Given the description of an element on the screen output the (x, y) to click on. 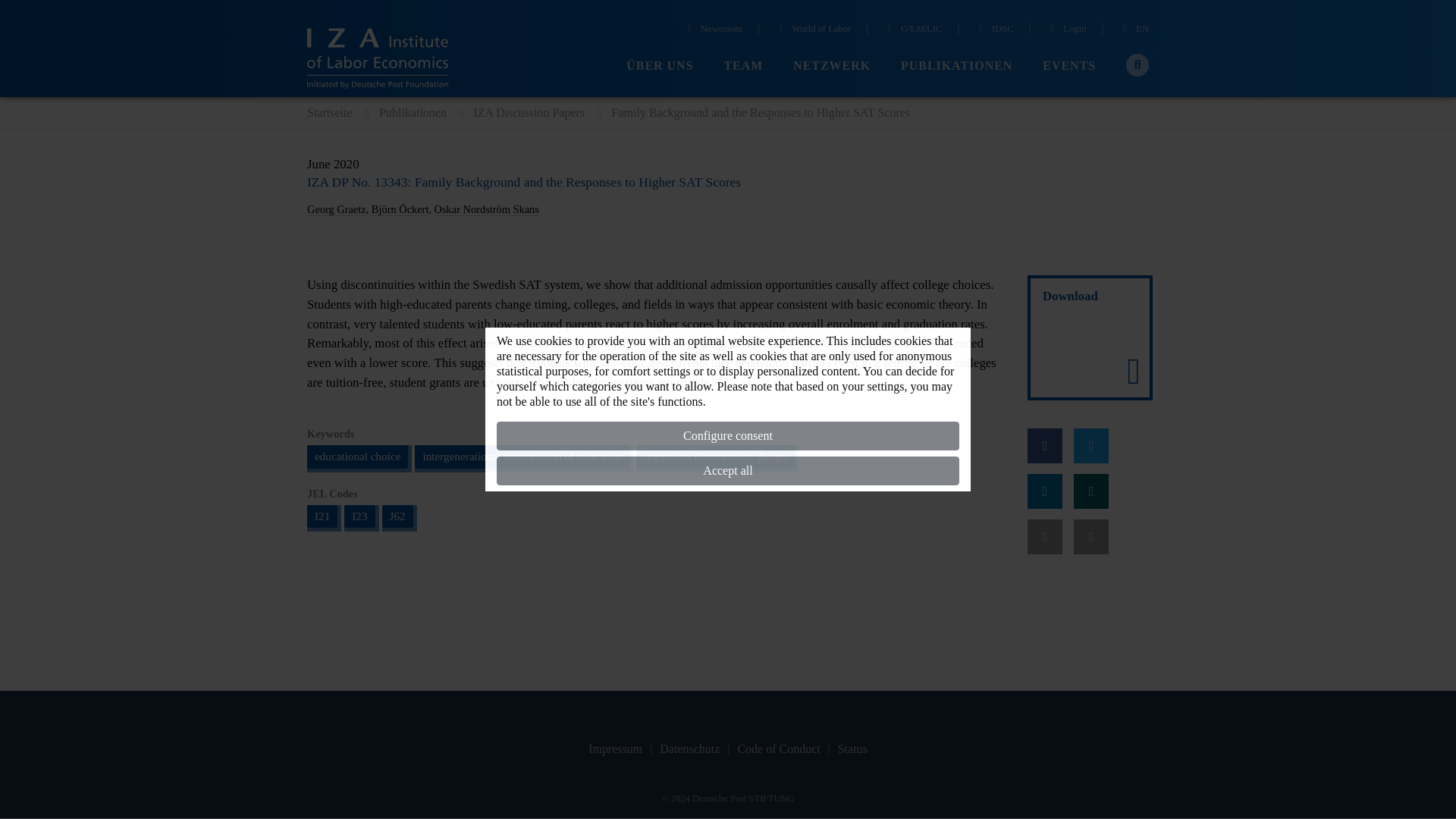
NETZWERK (831, 66)
World of Labor (812, 30)
TEAM (742, 66)
EN (1133, 30)
Newsroom (712, 30)
Login (1066, 30)
PUBLIKATIONEN (956, 66)
IDSC (993, 30)
EVENTS (1069, 66)
